Given the description of an element on the screen output the (x, y) to click on. 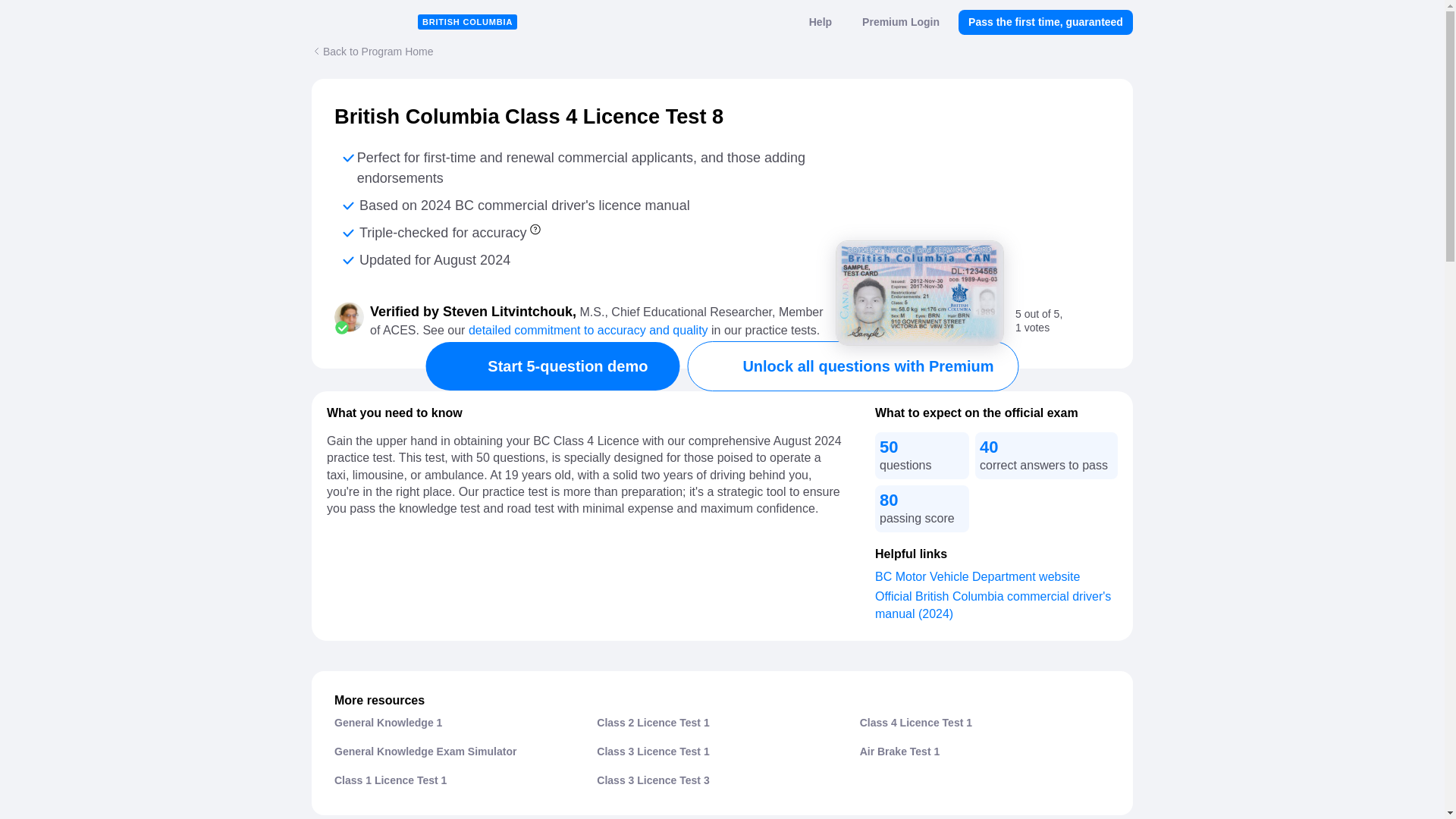
BC General Knowledge Test 1 (388, 721)
British Columbia Commercial Driver's Licence (919, 294)
BC Class 3 Commercial Licence Practice Test (652, 750)
FREE BC Class 1 Commercial Licence Practice Test (390, 779)
Start 5-question demo (552, 366)
BC Air Brake Test 1 (900, 750)
Help (820, 21)
BC General Knowledge Exam Simulator (425, 750)
General Knowledge Exam Simulator (425, 750)
ICBC Knowledge Test Practice: Class 4 Licence (916, 721)
General Knowledge 1 (388, 721)
Back to Program Home (372, 50)
Pass the first time, guaranteed (1045, 22)
Premium Login (900, 21)
BRITISH COLUMBIA (466, 21)
